Given the description of an element on the screen output the (x, y) to click on. 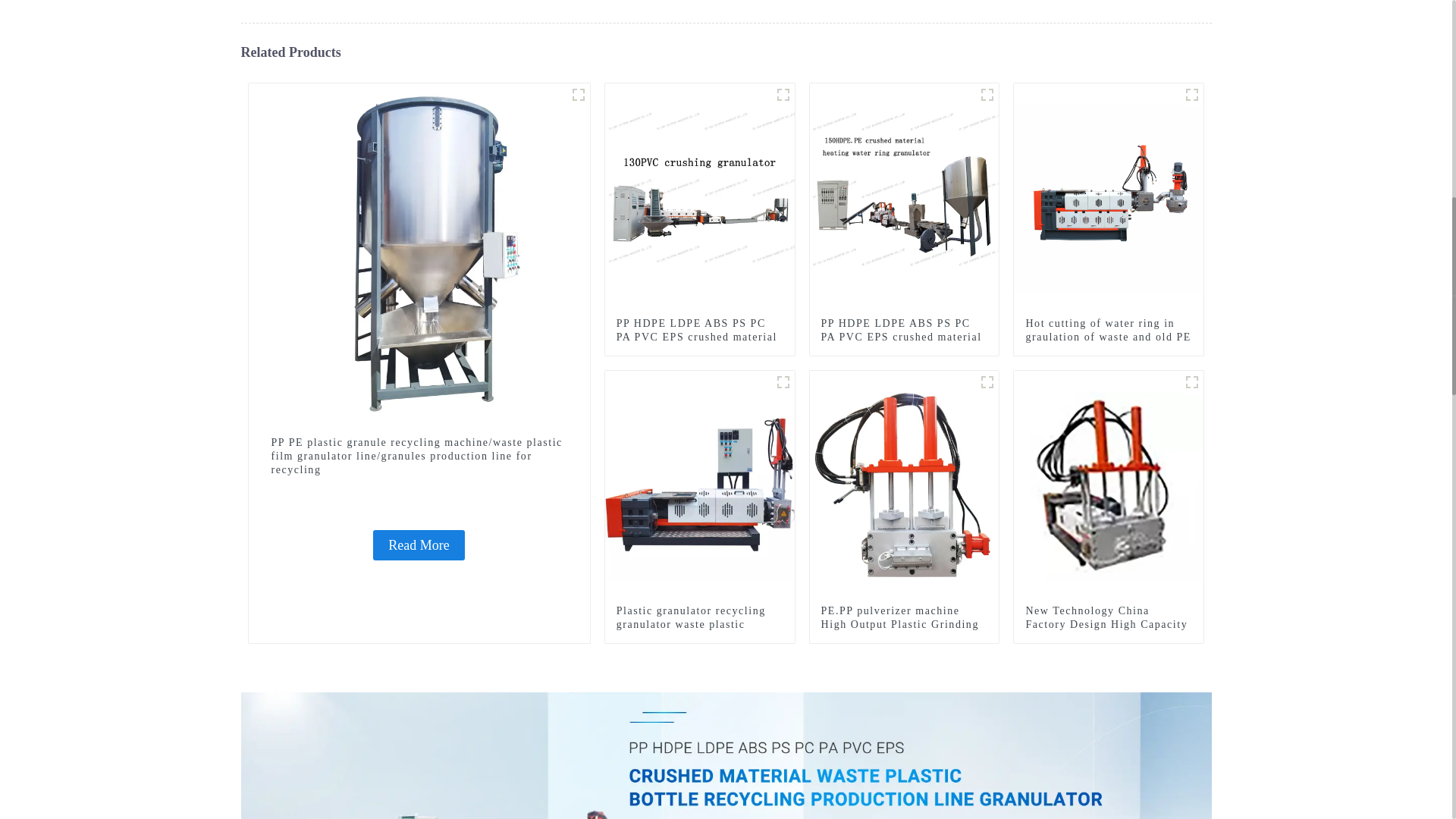
3 (986, 382)
2 (578, 94)
Read More (418, 544)
1 (782, 94)
